Given the description of an element on the screen output the (x, y) to click on. 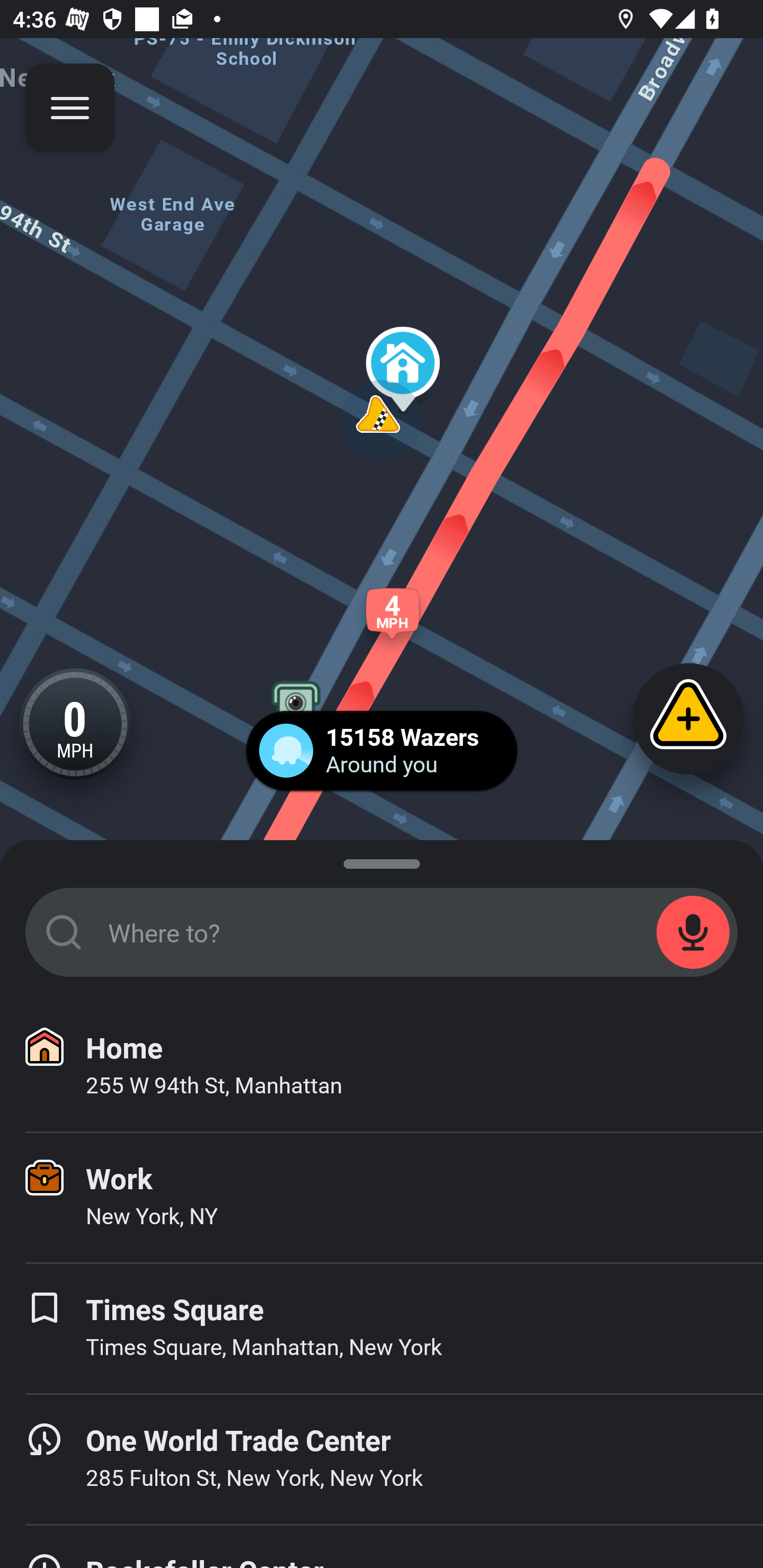
SUGGESTIONS_SHEET_DRAG_HANDLE (381, 860)
START_STATE_SEARCH_FIELD Where to? (381, 931)
Home 255 W 94th St, Manhattan (381, 1066)
Work New York, NY (381, 1197)
Times Square Times Square, Manhattan, New York (381, 1328)
